Given the description of an element on the screen output the (x, y) to click on. 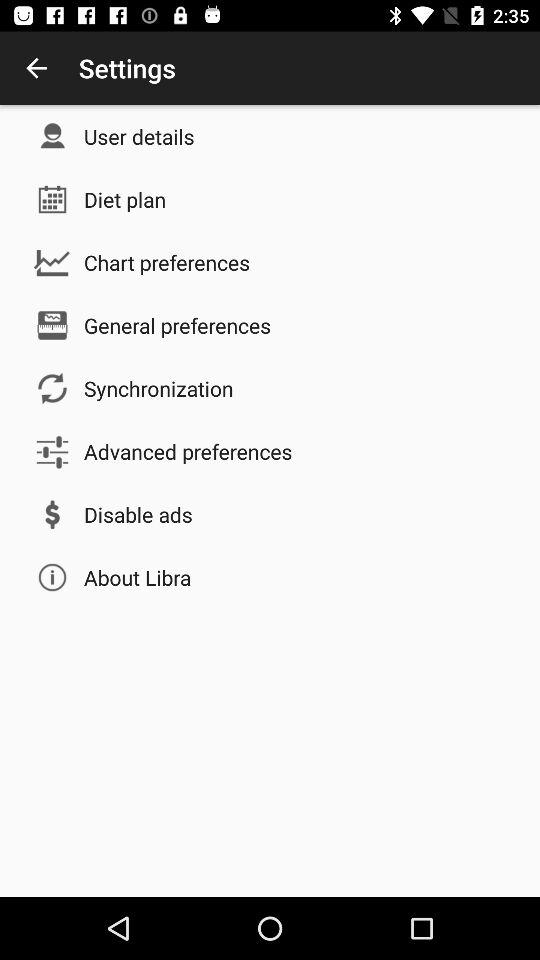
click the icon above general preferences item (167, 262)
